Given the description of an element on the screen output the (x, y) to click on. 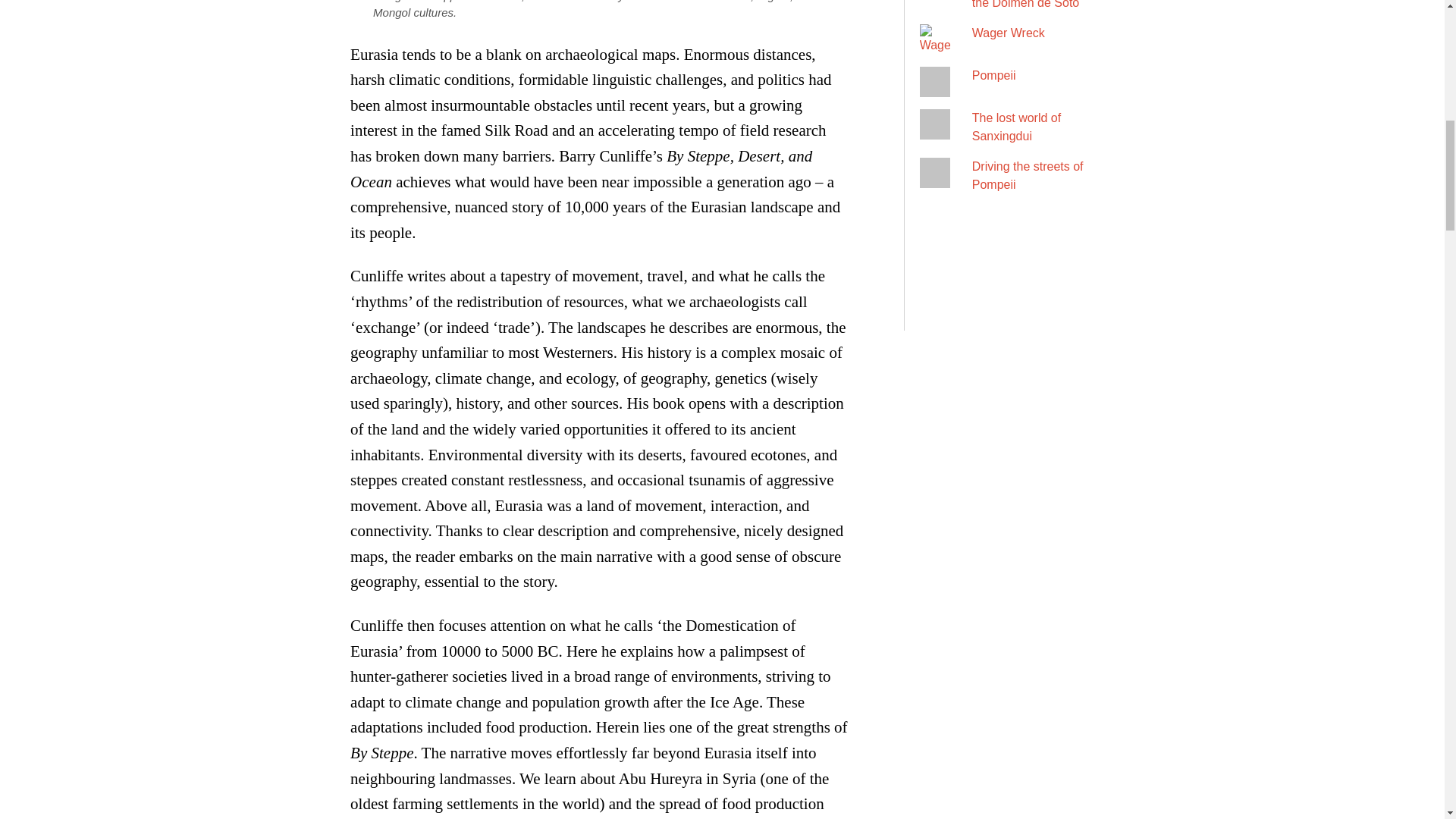
Wager Wreck (1008, 32)
The lost world of Sanxingdui (1016, 126)
Pompeii (994, 74)
